Given the description of an element on the screen output the (x, y) to click on. 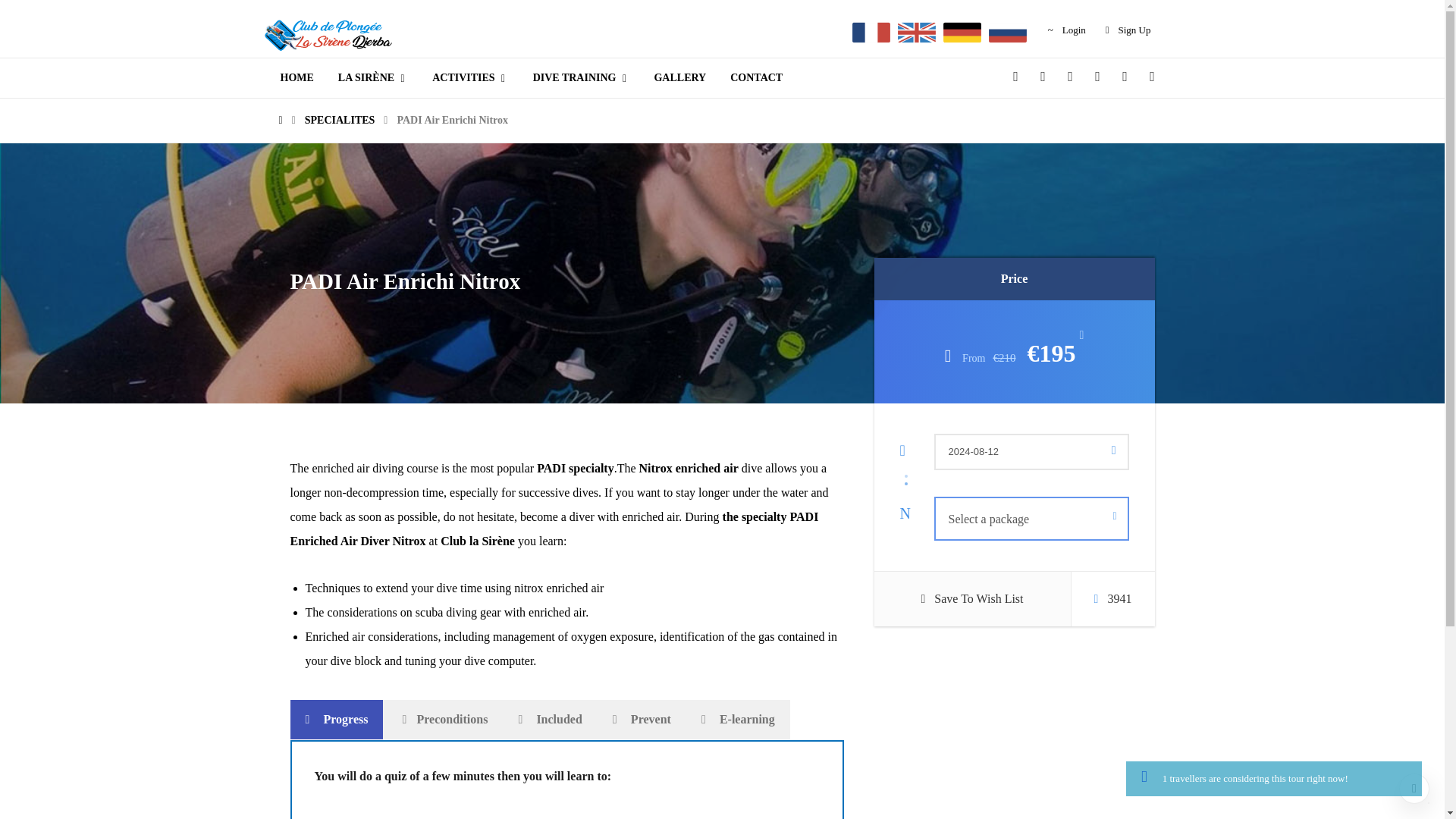
DIVE TRAINING (581, 77)
Sign Up (1128, 30)
2024-08-12 (1031, 452)
Login (1067, 30)
ACTIVITIES (470, 77)
